Given the description of an element on the screen output the (x, y) to click on. 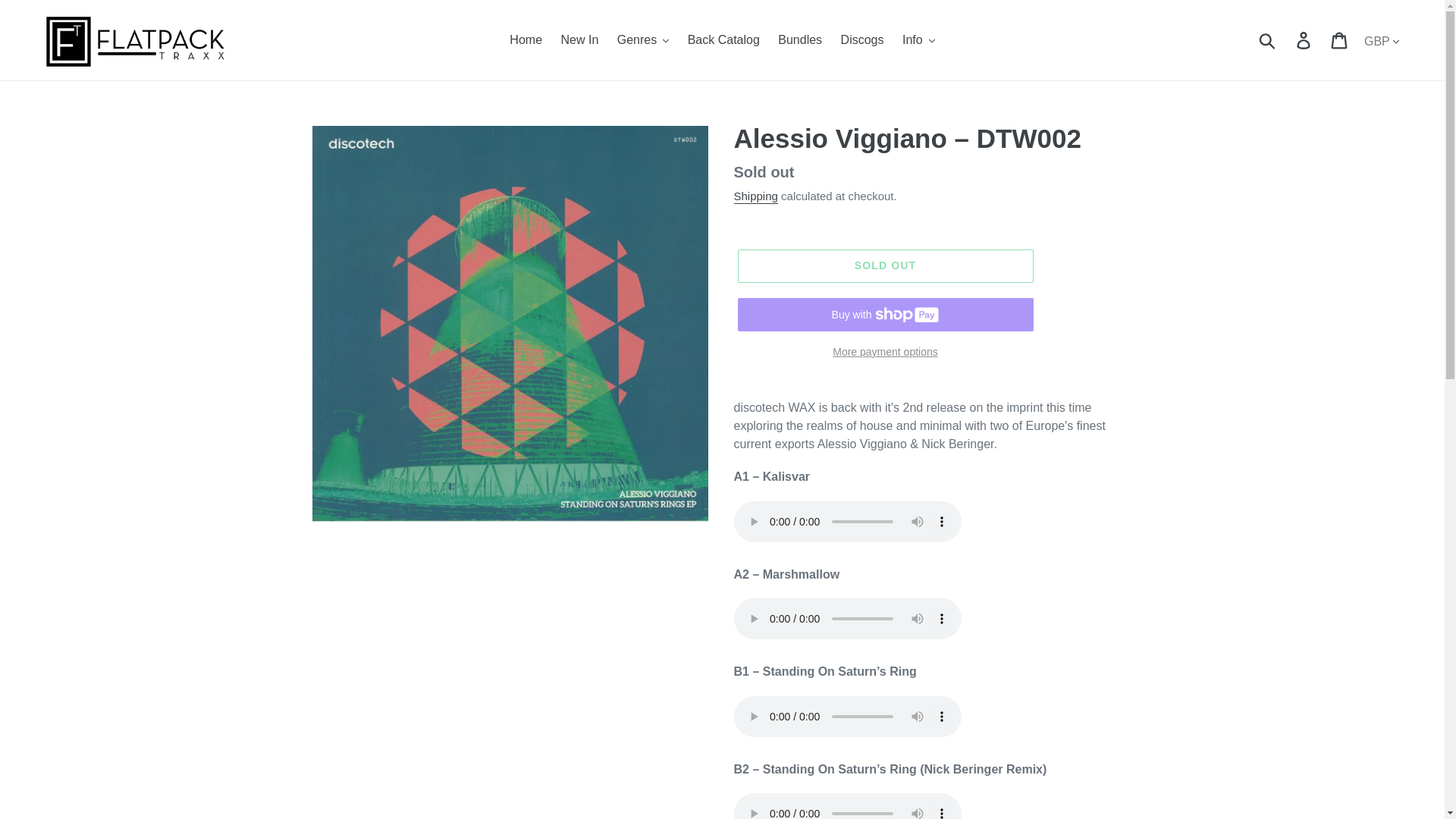
Home (526, 39)
Discogs (861, 39)
Back Catalog (723, 39)
Log in (1304, 39)
Bundles (799, 39)
New In (580, 39)
Cart (1340, 39)
Submit (1268, 39)
